Given the description of an element on the screen output the (x, y) to click on. 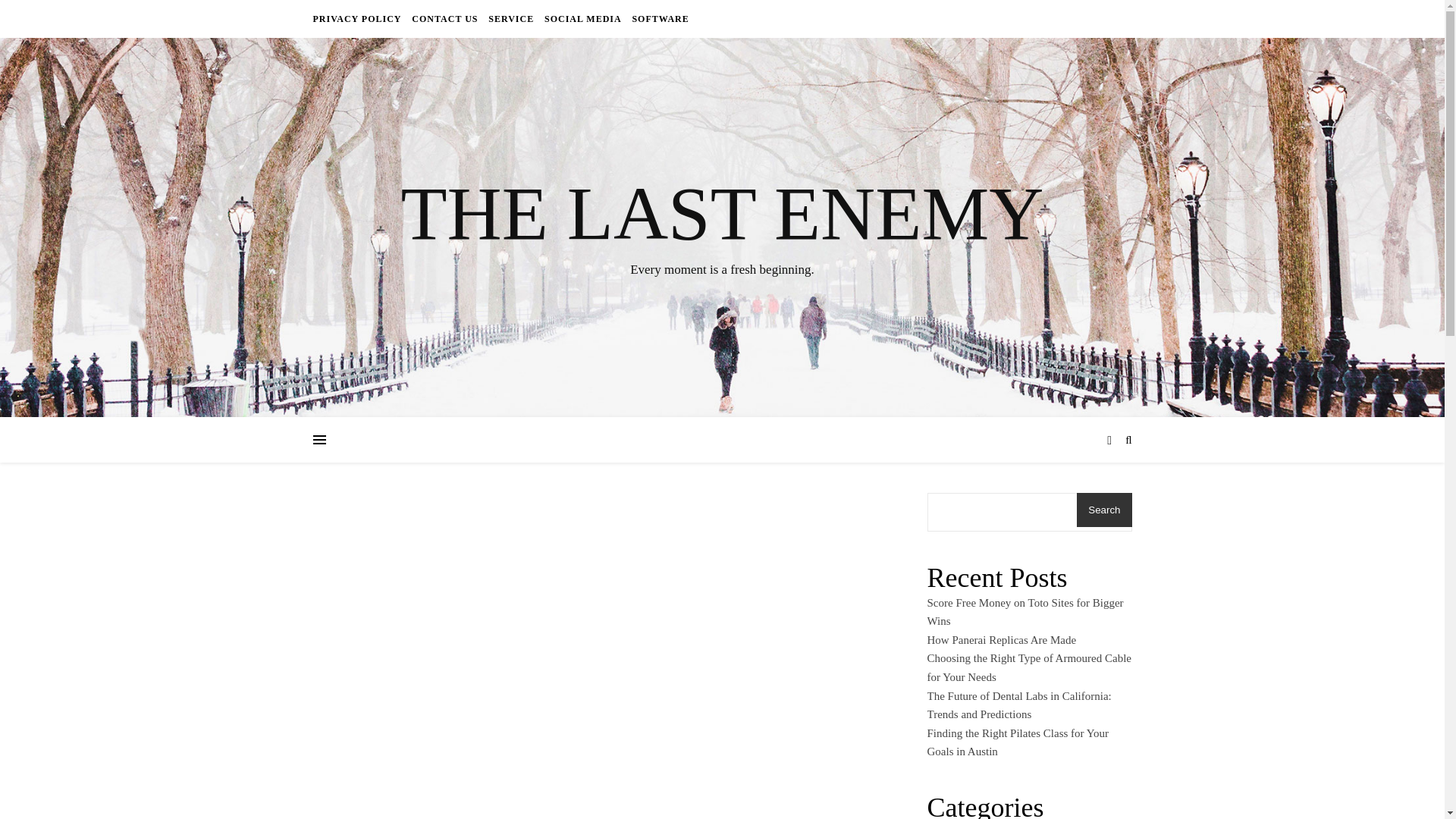
SOCIAL MEDIA (583, 18)
How Panerai Replicas Are Made (1000, 639)
Finding the Right Pilates Class for Your Goals in Austin (1017, 742)
Choosing the Right Type of Armoured Cable for Your Needs (1028, 667)
SOFTWARE (657, 18)
CONTACT US (444, 18)
PRIVACY POLICY (358, 18)
Score Free Money on Toto Sites for Bigger Wins (1024, 612)
Search (1104, 510)
